Given the description of an element on the screen output the (x, y) to click on. 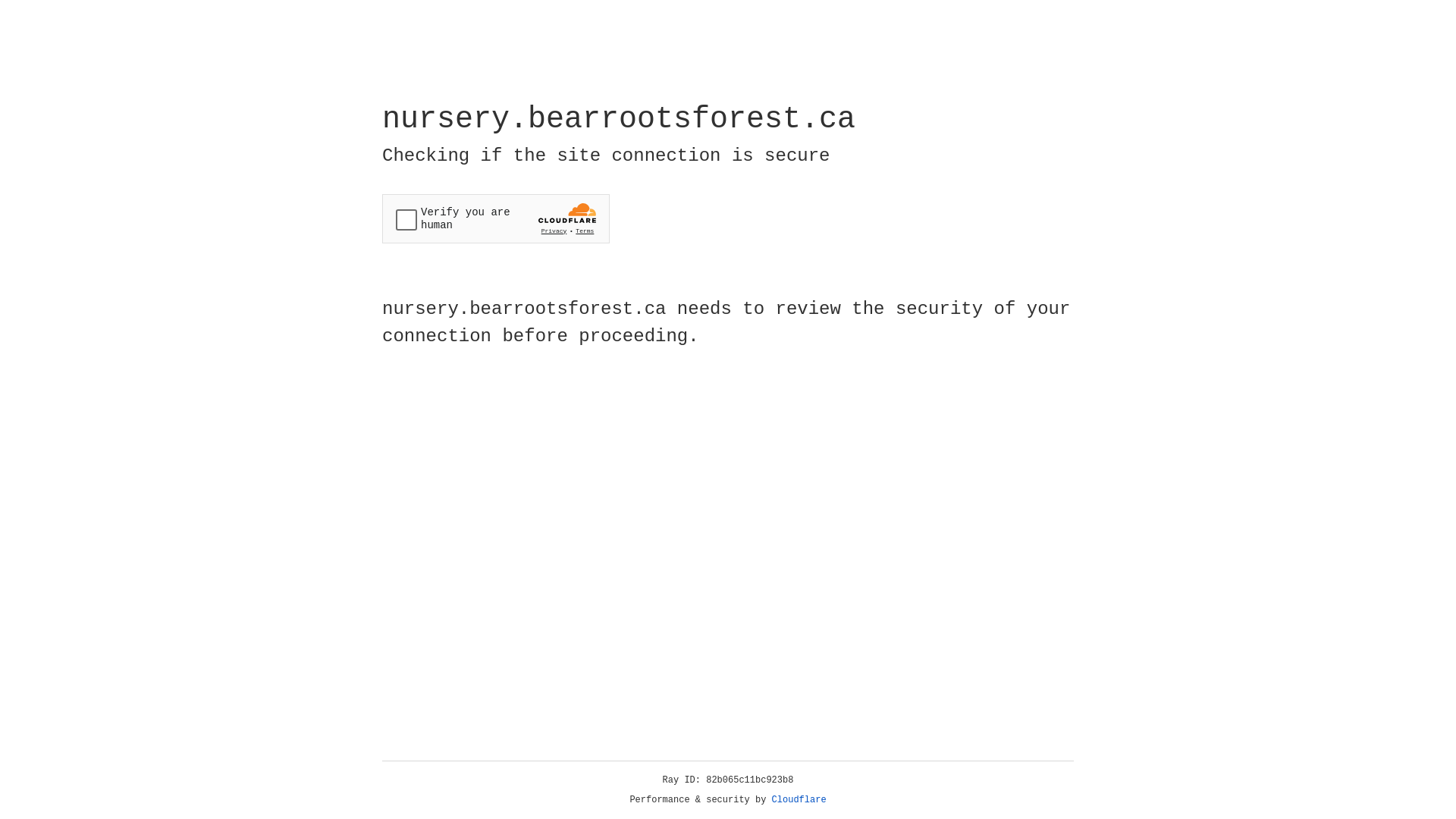
Cloudflare Element type: text (798, 799)
Widget containing a Cloudflare security challenge Element type: hover (495, 218)
